Given the description of an element on the screen output the (x, y) to click on. 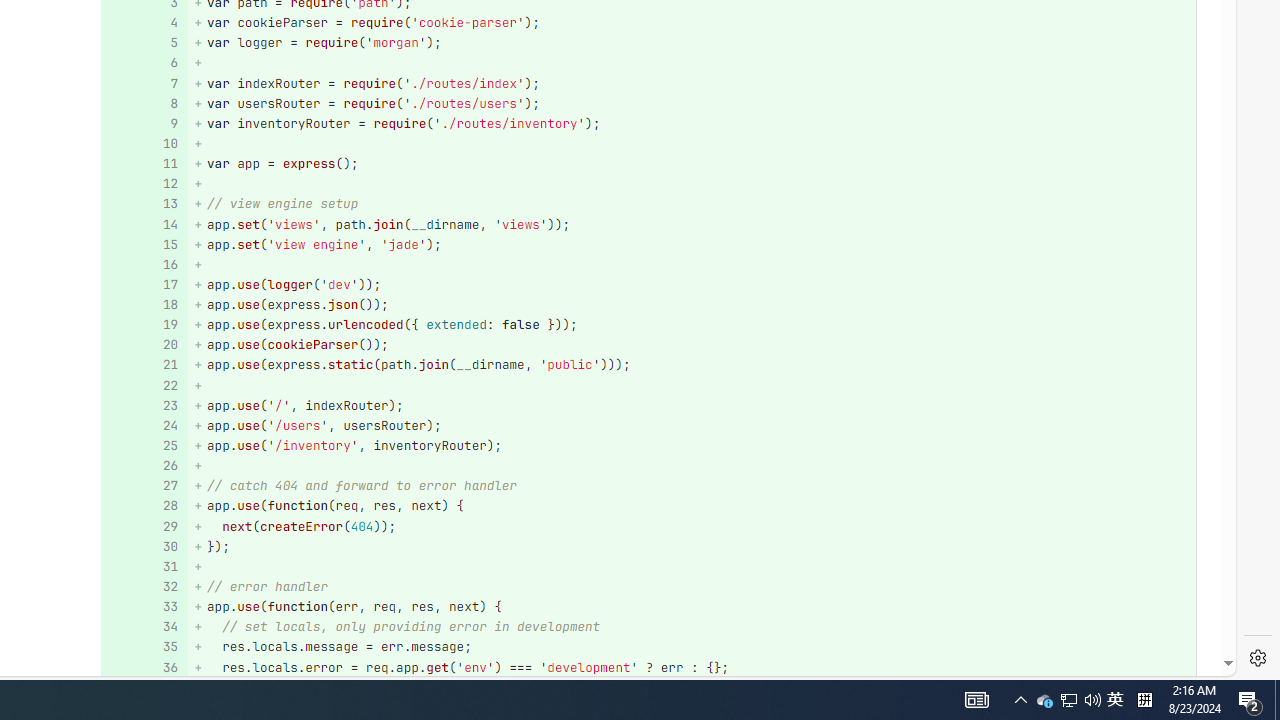
25 (141, 446)
+ app.set('views', path.join(__dirname, 'views'));  (691, 223)
Add a comment to this line 19 (144, 325)
+ // error handler  (691, 587)
Add a comment to this line 21 (144, 364)
32 (141, 587)
12 (141, 184)
Add a comment to this line 20 (144, 344)
22 (141, 385)
Add a comment to this line 10 (144, 143)
Add a comment to this line 13 (144, 204)
Add a comment to this line 25 (144, 446)
17 (141, 284)
+ app.use(logger('dev'));  (691, 284)
26 (141, 465)
